Given the description of an element on the screen output the (x, y) to click on. 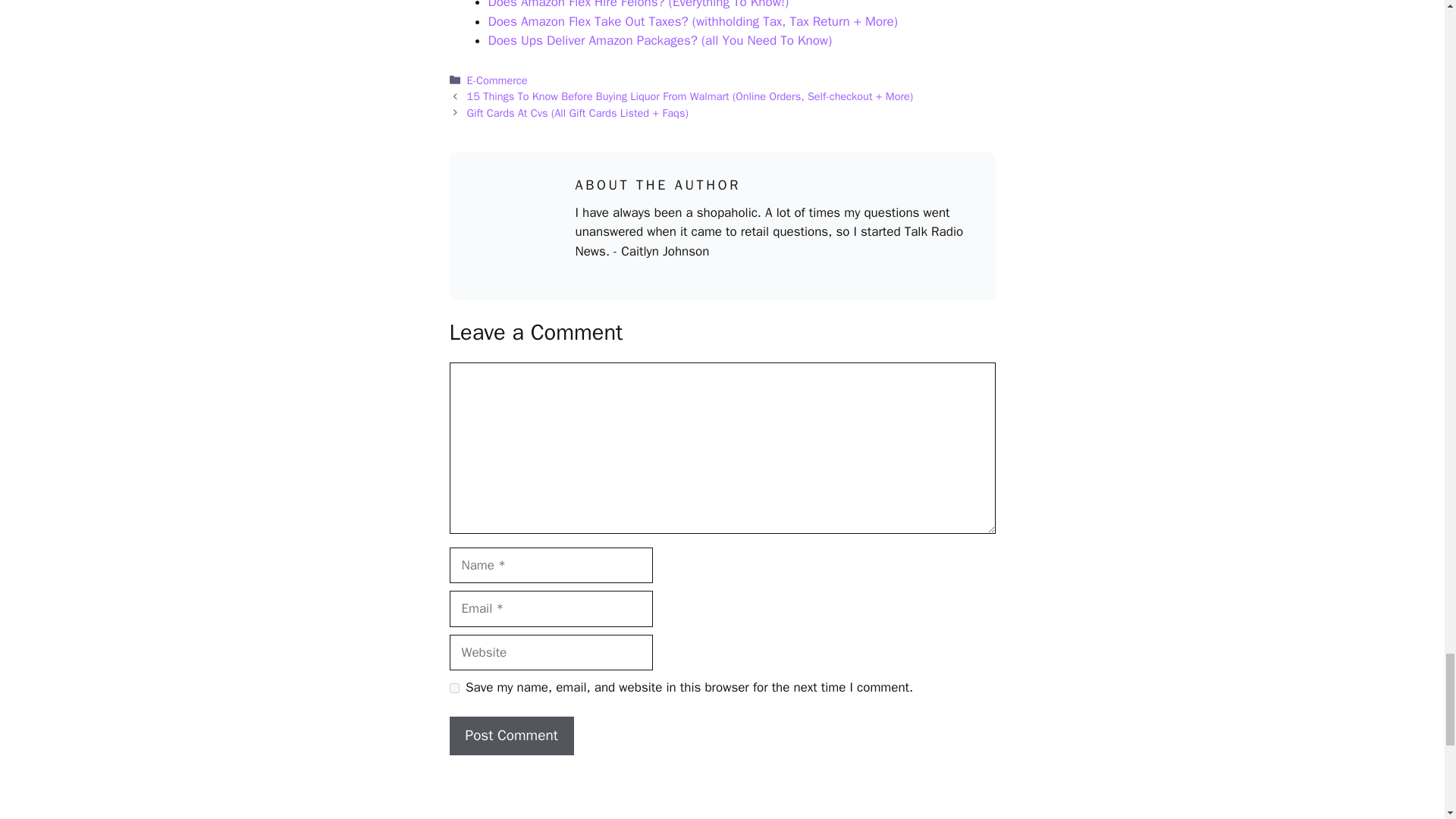
Next (577, 112)
Post Comment (510, 735)
E-Commerce (497, 79)
Previous (690, 96)
yes (453, 687)
Post Comment (510, 735)
